Given the description of an element on the screen output the (x, y) to click on. 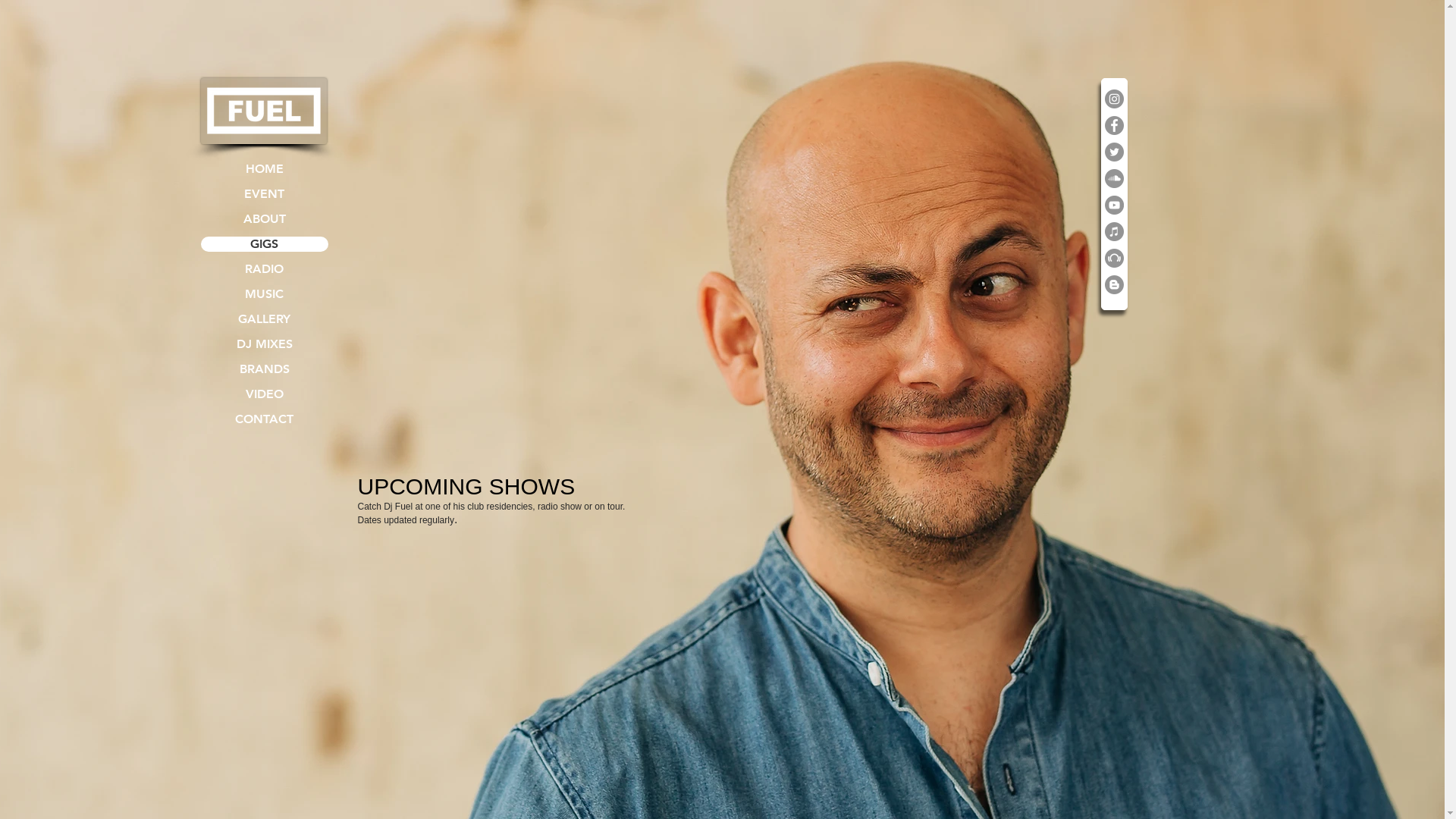
ABOUT Element type: text (263, 218)
GIGS Element type: text (263, 243)
CONTACT Element type: text (263, 418)
GALLERY Element type: text (263, 318)
DJ MIXES Element type: text (263, 343)
MUSIC Element type: text (263, 293)
VIDEO Element type: text (263, 393)
BRANDS Element type: text (263, 368)
RADIO Element type: text (263, 268)
EVENT Element type: text (263, 193)
HOME Element type: text (263, 168)
